Given the description of an element on the screen output the (x, y) to click on. 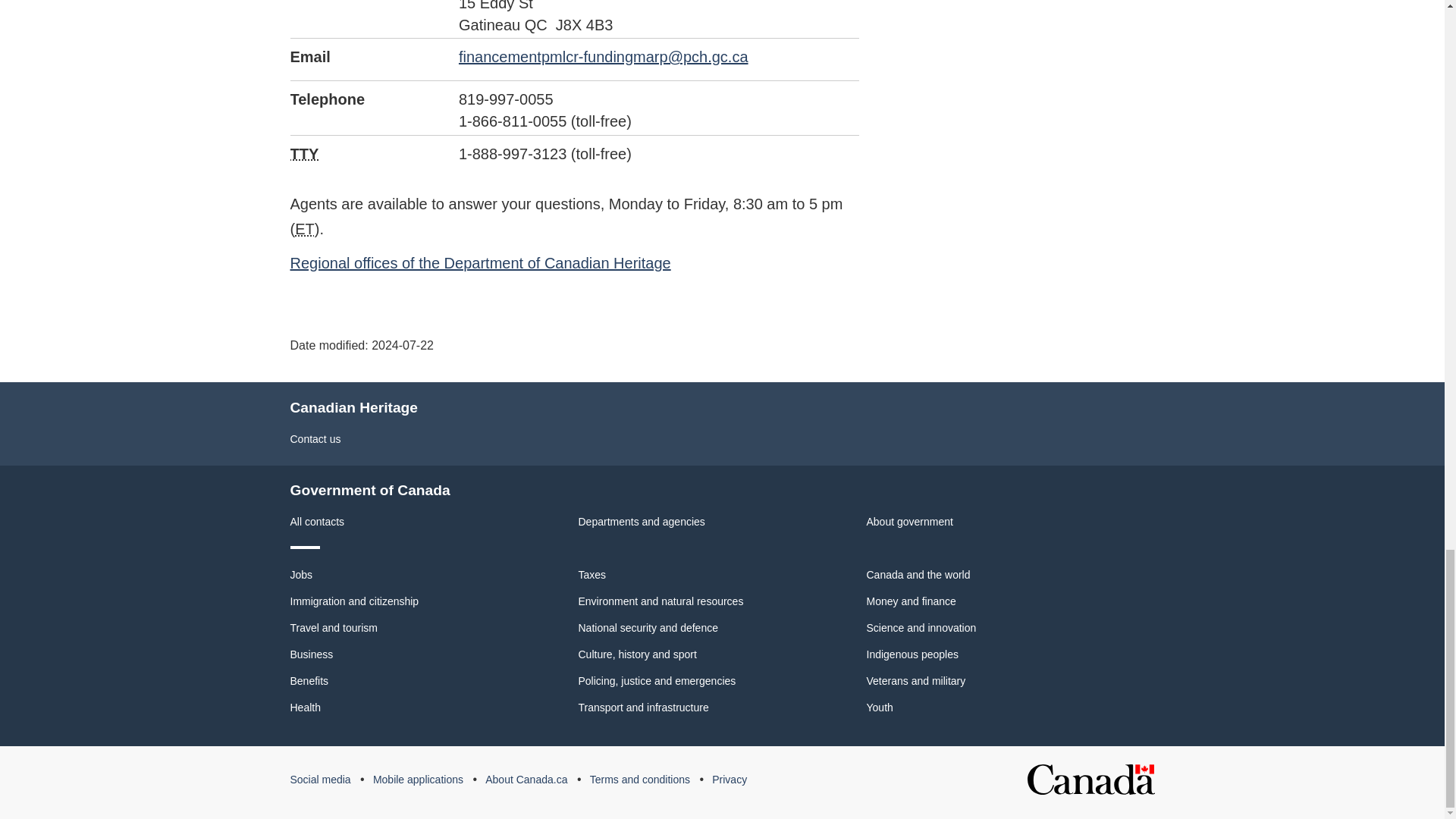
contact the Multiculturalism and anti-racism program (603, 56)
Regional offices of the Department of Canadian Heritage (479, 262)
Eastern Time (304, 228)
teletypewriter (303, 153)
Contact us (314, 439)
